Given the description of an element on the screen output the (x, y) to click on. 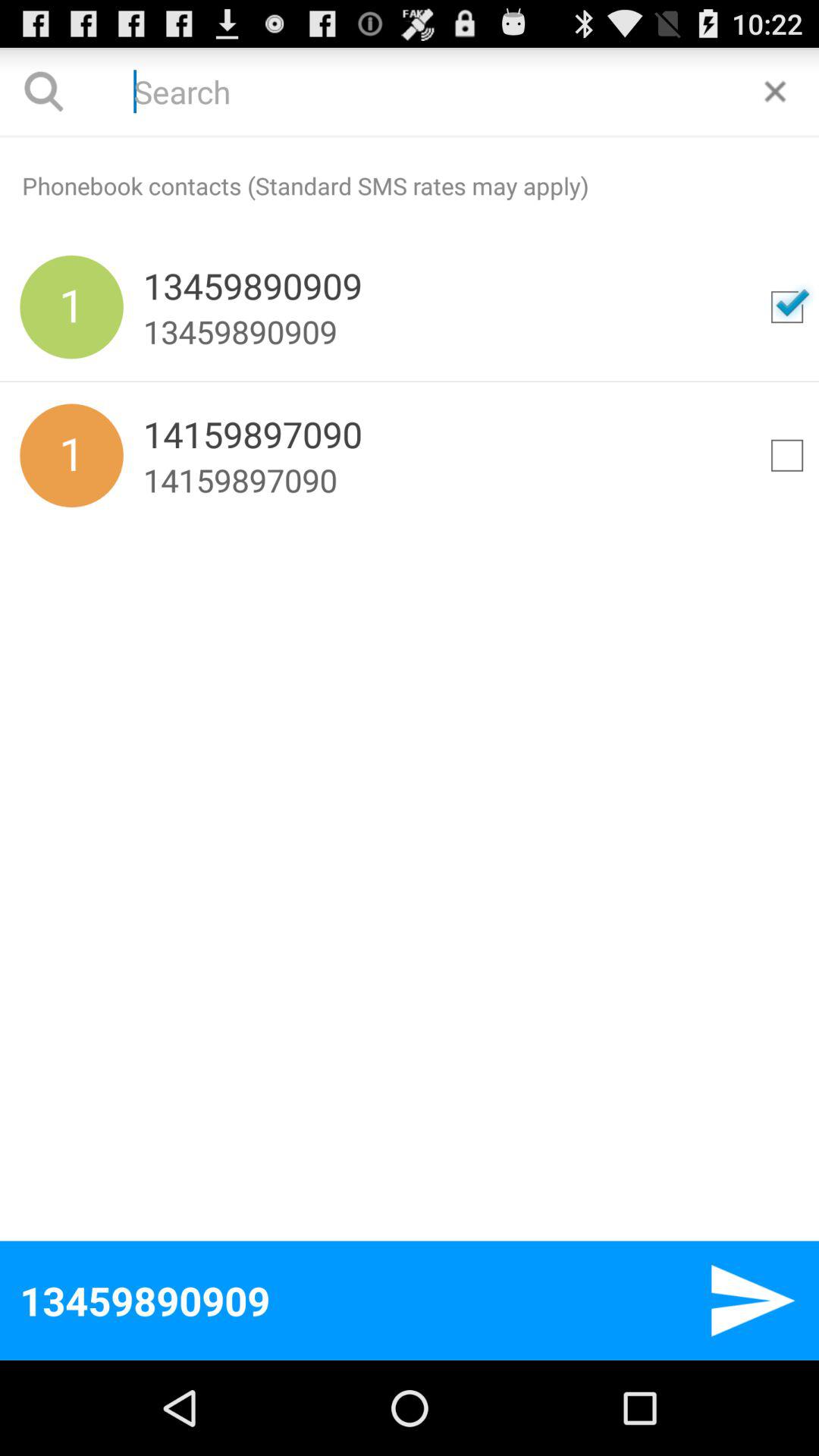
close search query (775, 91)
